Given the description of an element on the screen output the (x, y) to click on. 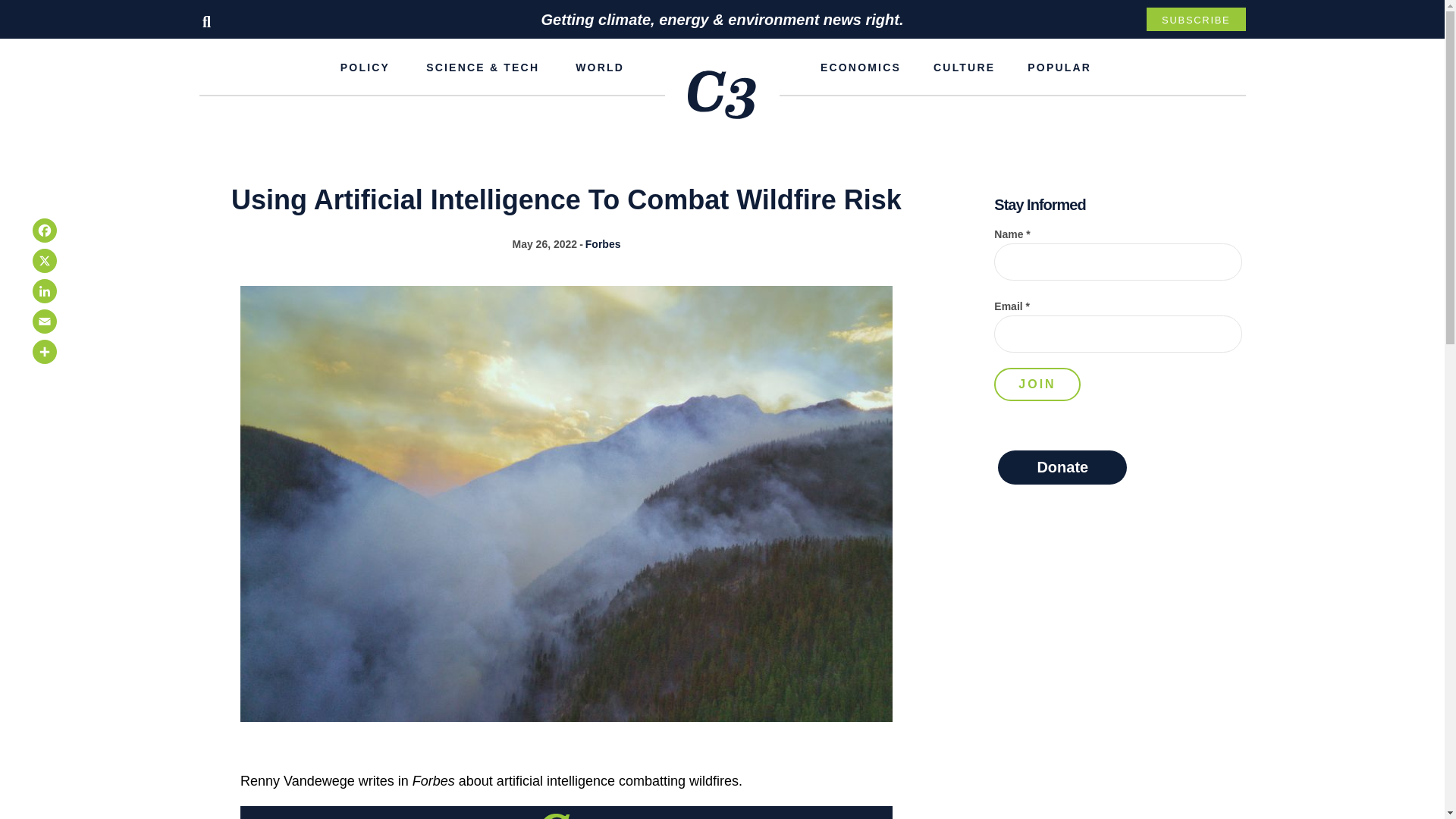
X (44, 260)
WORLD (599, 67)
X (44, 260)
Facebook (44, 230)
LinkedIn (44, 291)
May 26, 2022 (545, 243)
CULTURE (963, 67)
POLICY (364, 67)
Forbes (603, 244)
Email (44, 321)
Join (1037, 384)
POPULAR (1058, 67)
Donate (1061, 467)
